Given the description of an element on the screen output the (x, y) to click on. 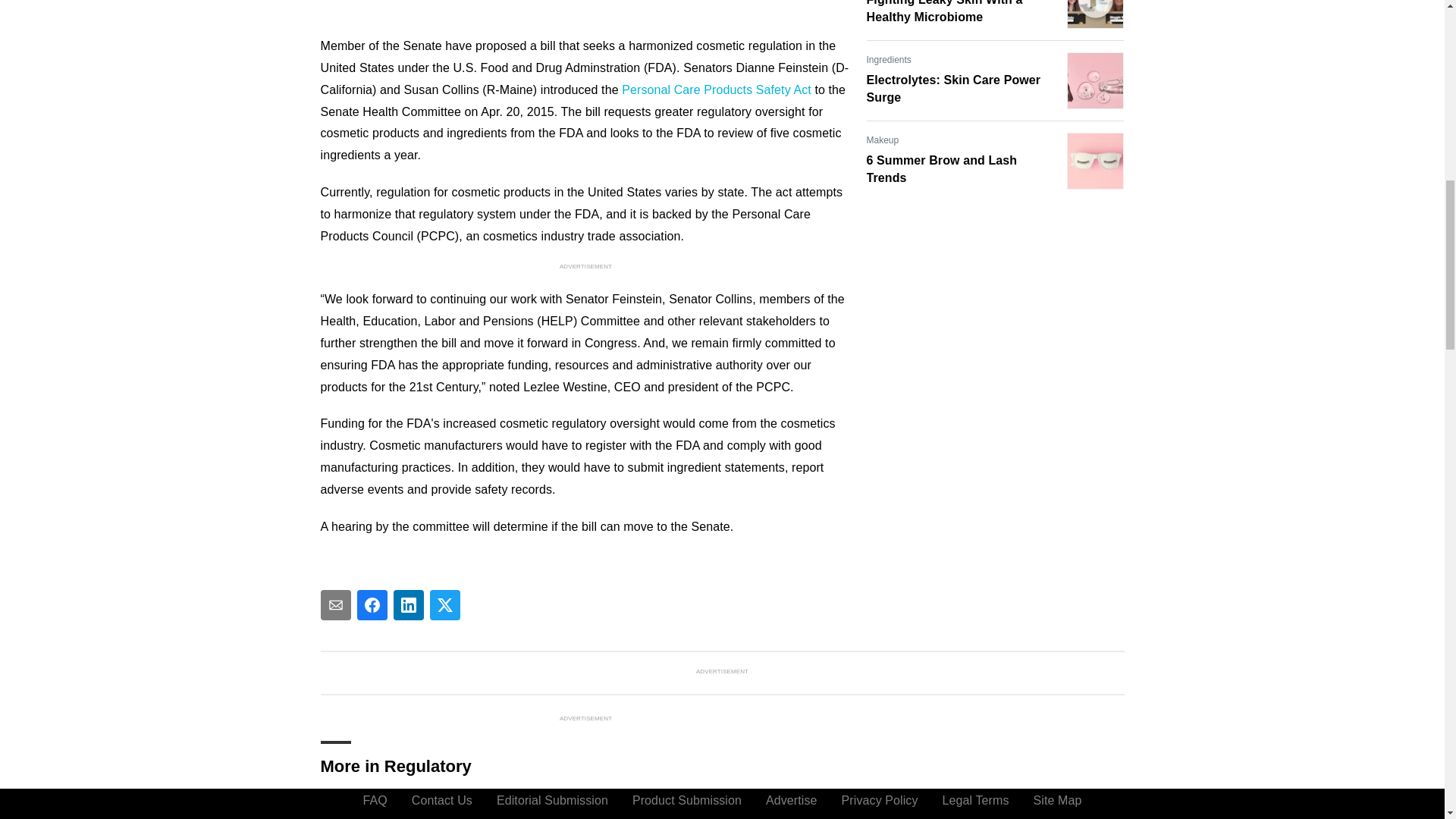
Share To linkedin (408, 604)
Share To email (335, 604)
Share To twitter (444, 604)
Share To facebook (371, 604)
